Given the description of an element on the screen output the (x, y) to click on. 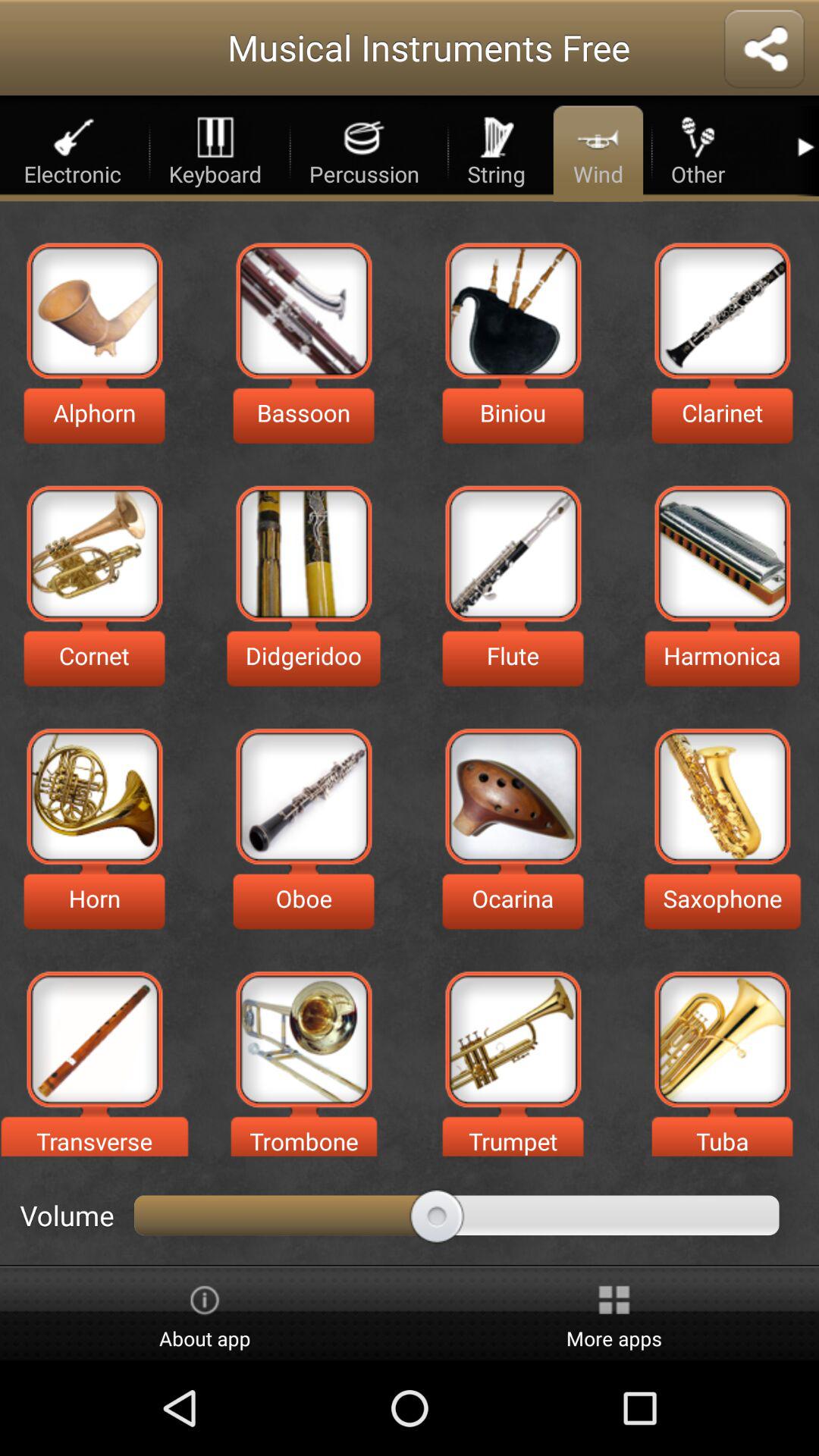
click to bassoon (303, 310)
